Given the description of an element on the screen output the (x, y) to click on. 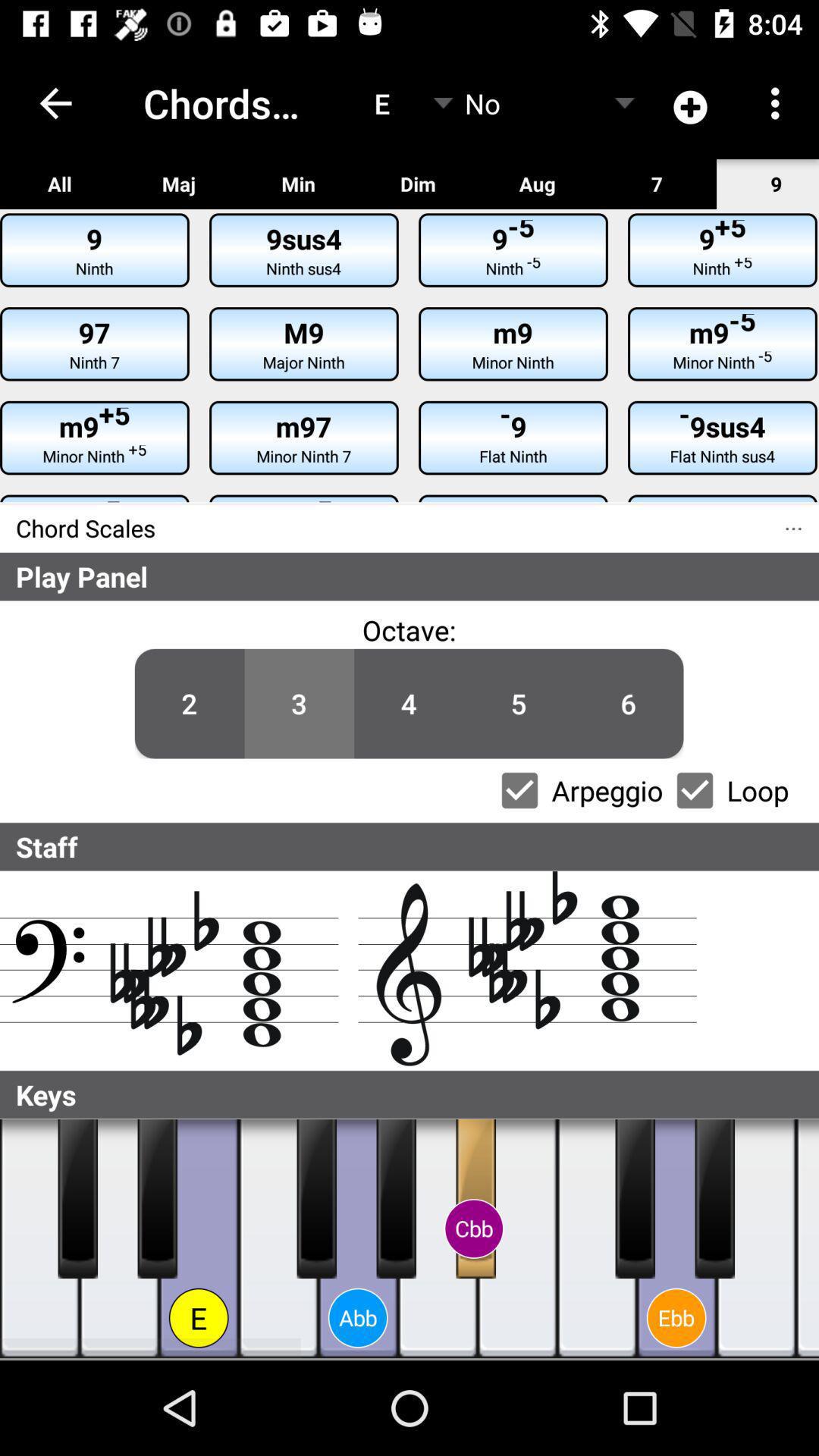
click to play ebb (676, 1238)
